Given the description of an element on the screen output the (x, y) to click on. 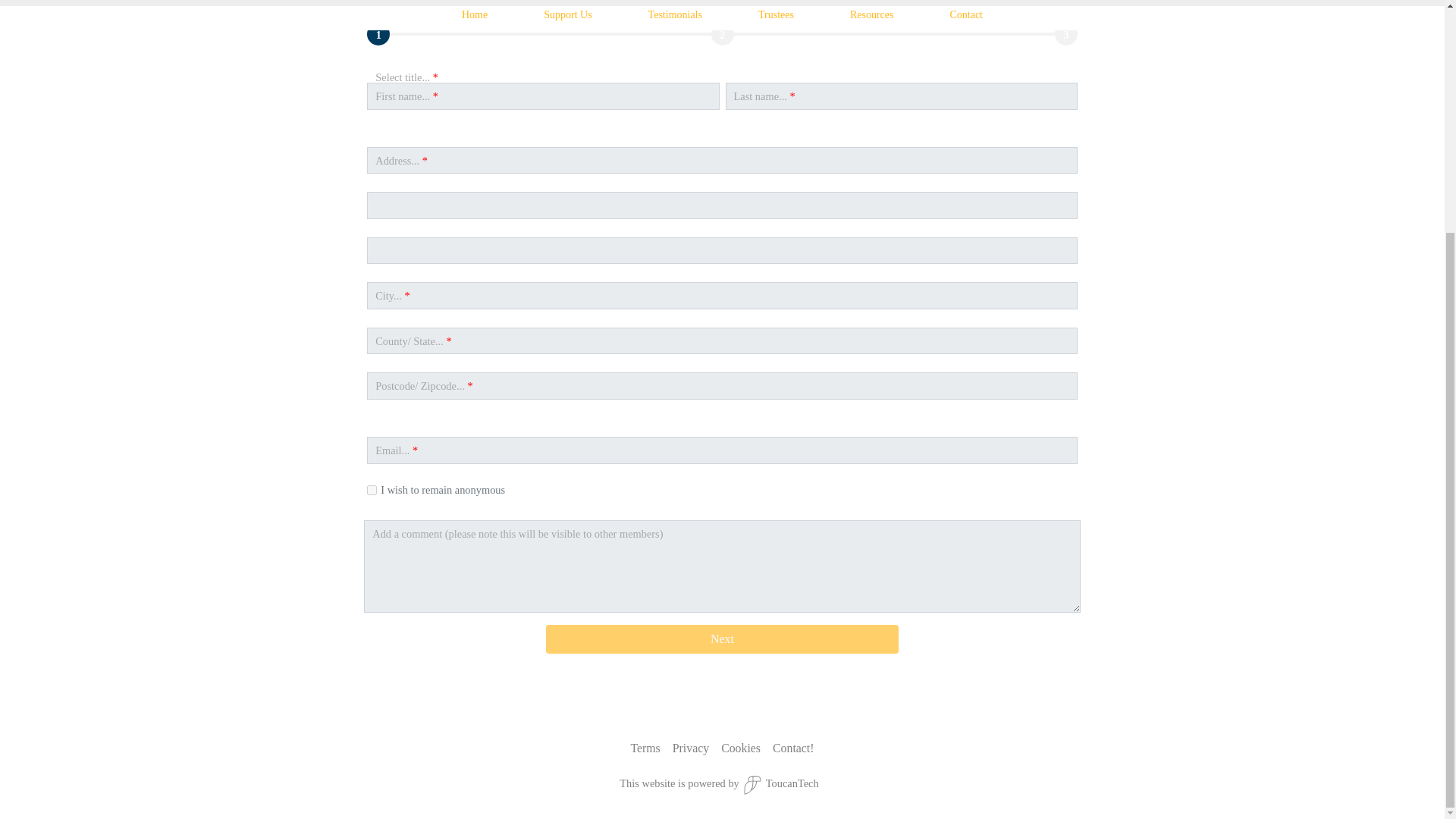
1 (371, 490)
Cookies (740, 748)
Privacy (690, 748)
Terms (644, 748)
ToucanTech (778, 784)
Next (722, 638)
Contact! (793, 748)
